Given the description of an element on the screen output the (x, y) to click on. 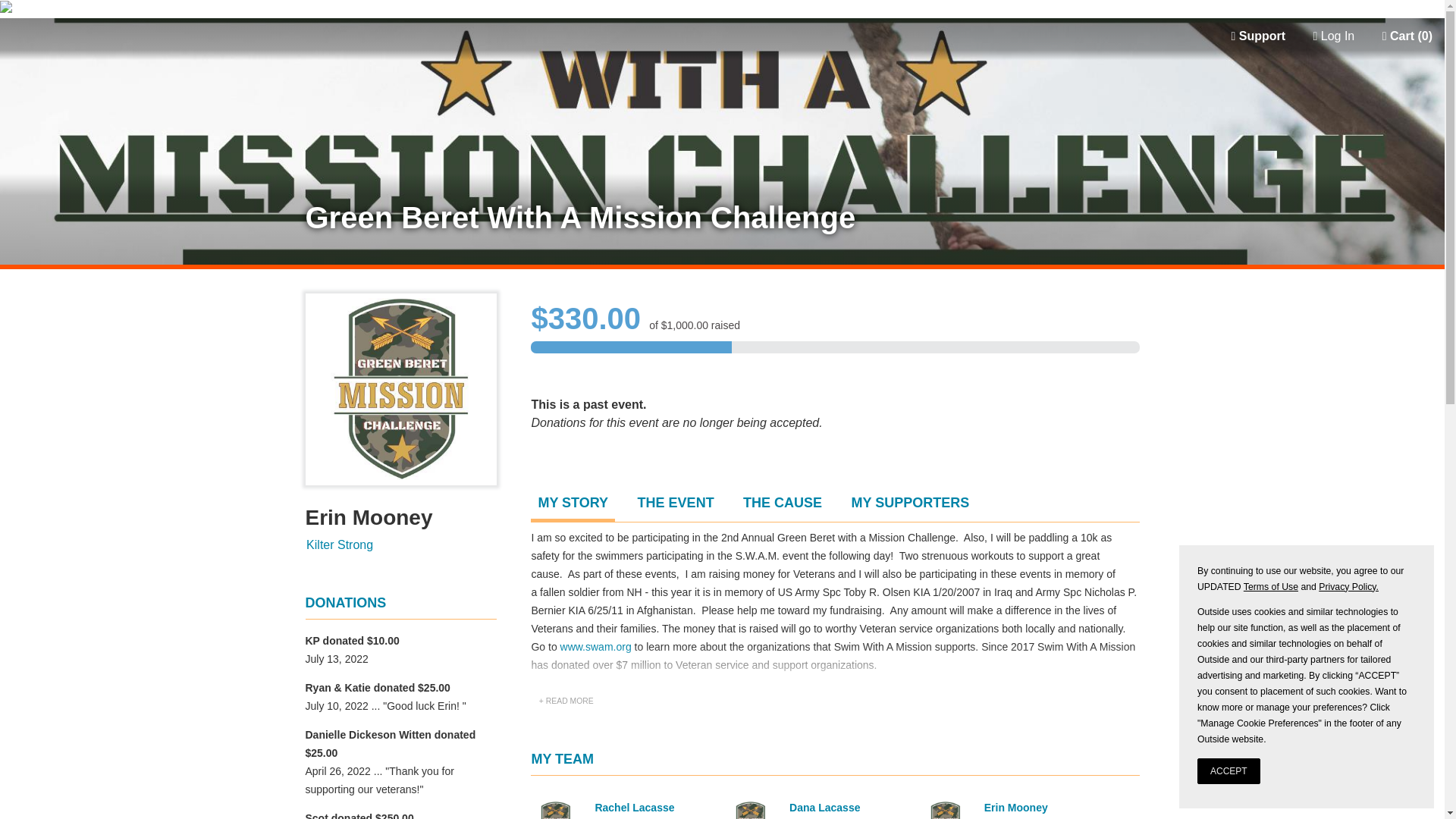
Erin Mooney (1016, 807)
Dana Lacasse (824, 807)
Kilter Strong (338, 544)
Terms of Use (1269, 586)
Log In (1335, 35)
www.swam.org (595, 646)
Green Beret With A Mission Challenge (721, 217)
ACCEPT (1228, 770)
Privacy Policy. (1347, 586)
Rachel Lacasse (634, 807)
Support (1257, 35)
